Given the description of an element on the screen output the (x, y) to click on. 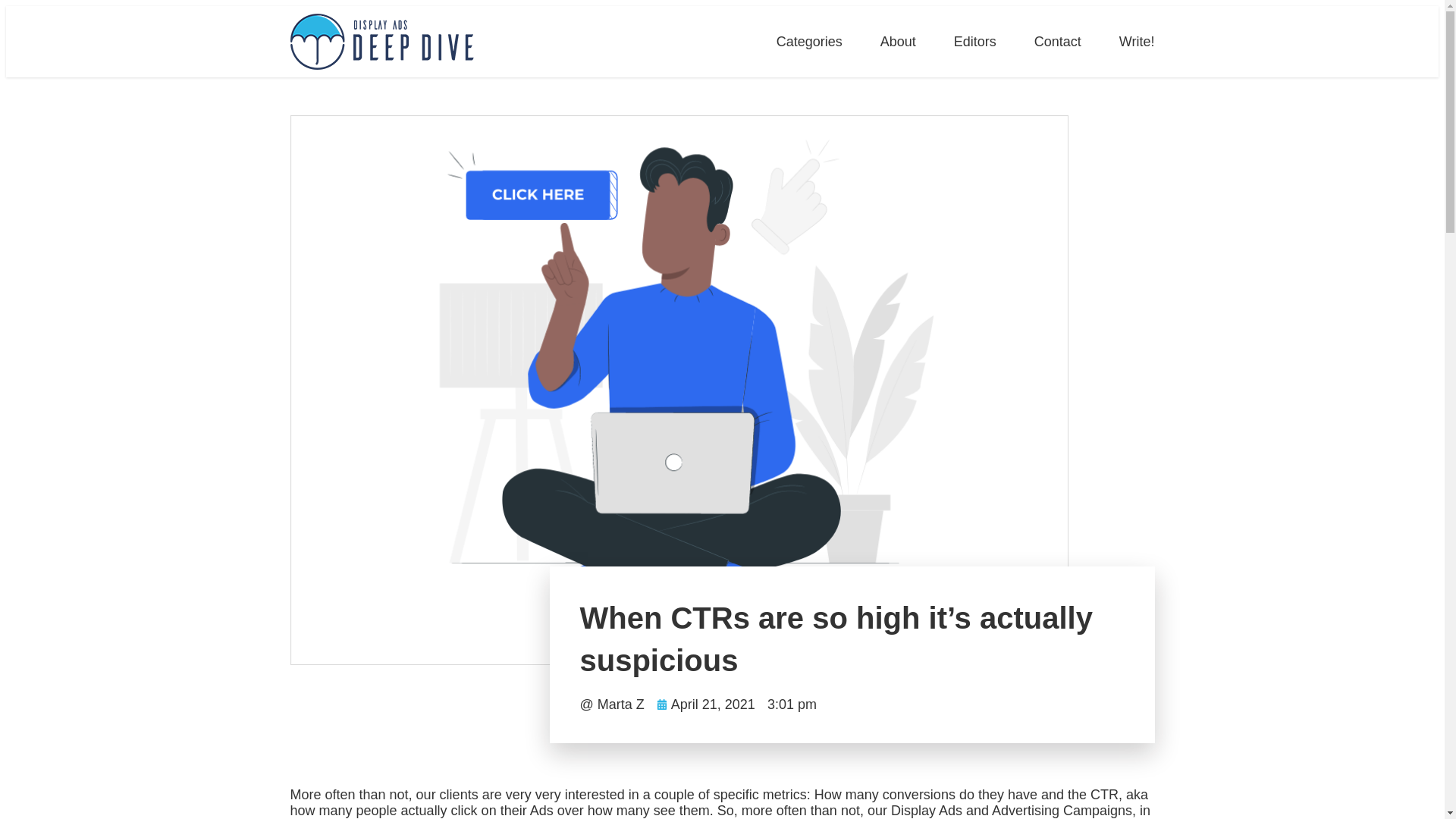
Categories (809, 40)
April 21, 2021 (705, 704)
